Given the description of an element on the screen output the (x, y) to click on. 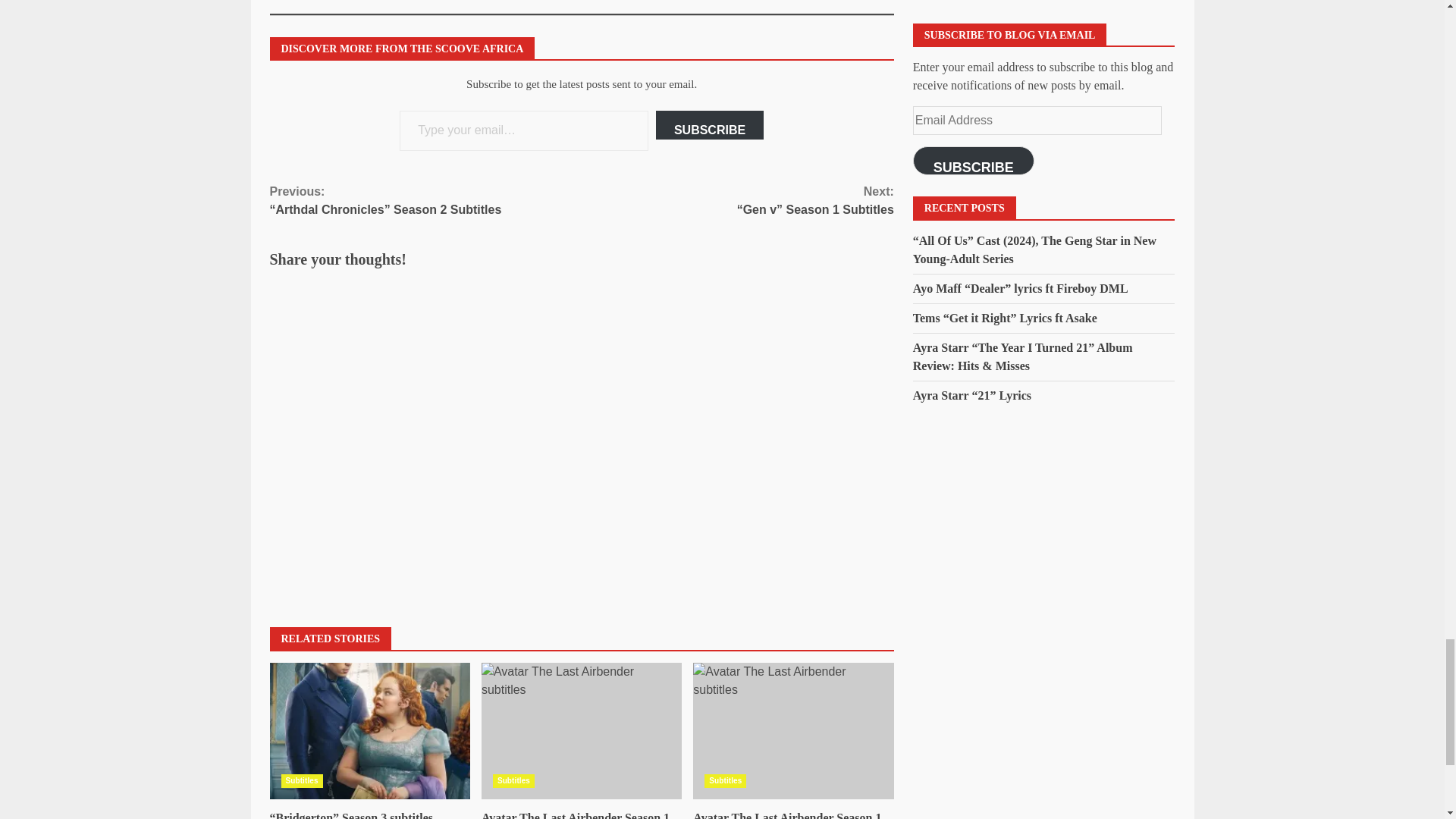
Subtitles (301, 780)
SUBSCRIBE (709, 124)
Please fill in this field. (522, 130)
